Given the description of an element on the screen output the (x, y) to click on. 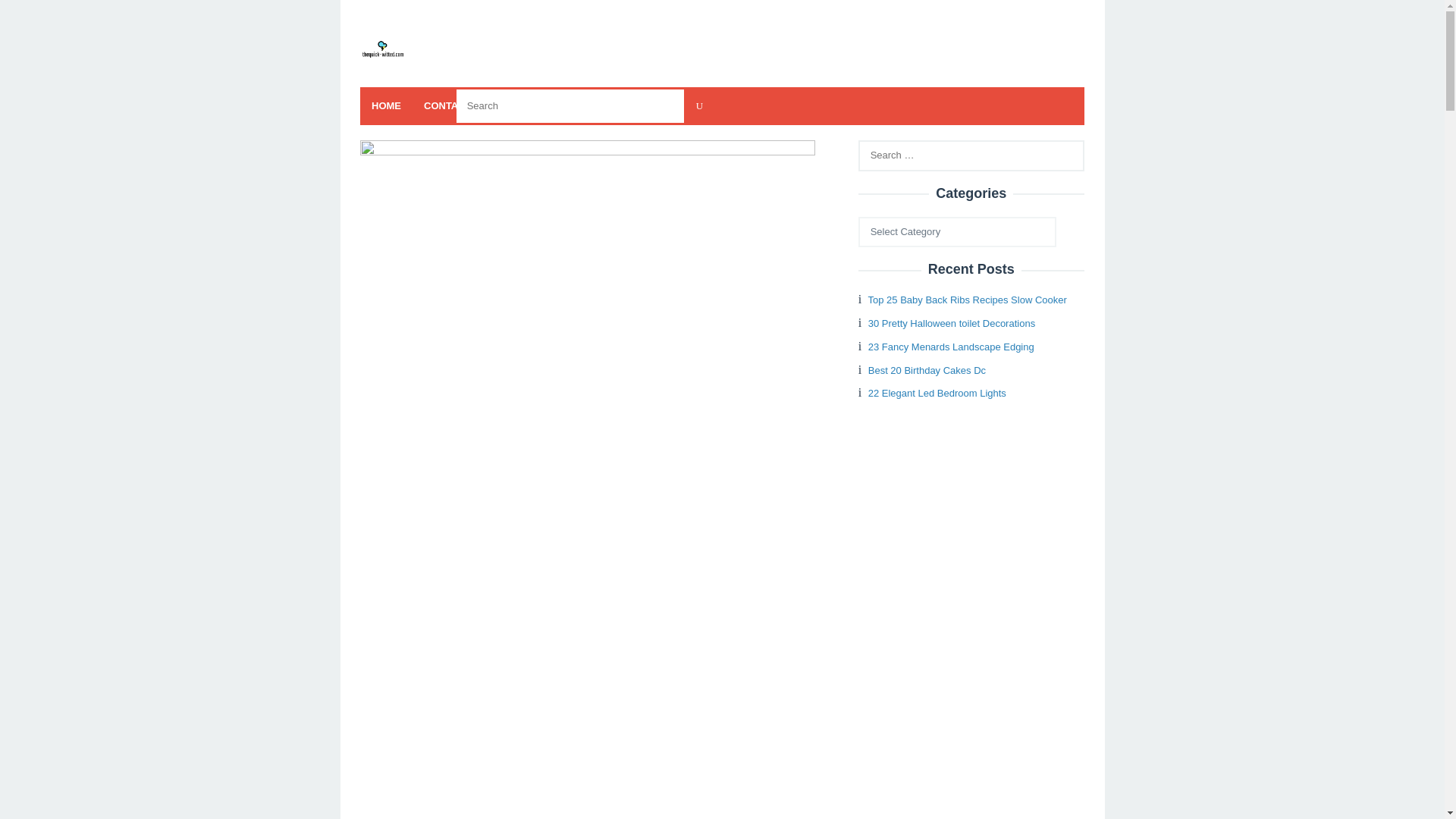
Home, Family, Style and Art Ideas (382, 49)
HOME (385, 105)
LEGAL INFORMATION (562, 105)
ABOUT (655, 105)
CONTACT US (455, 105)
Home, Family, Style and Art Ideas (382, 48)
